Given the description of an element on the screen output the (x, y) to click on. 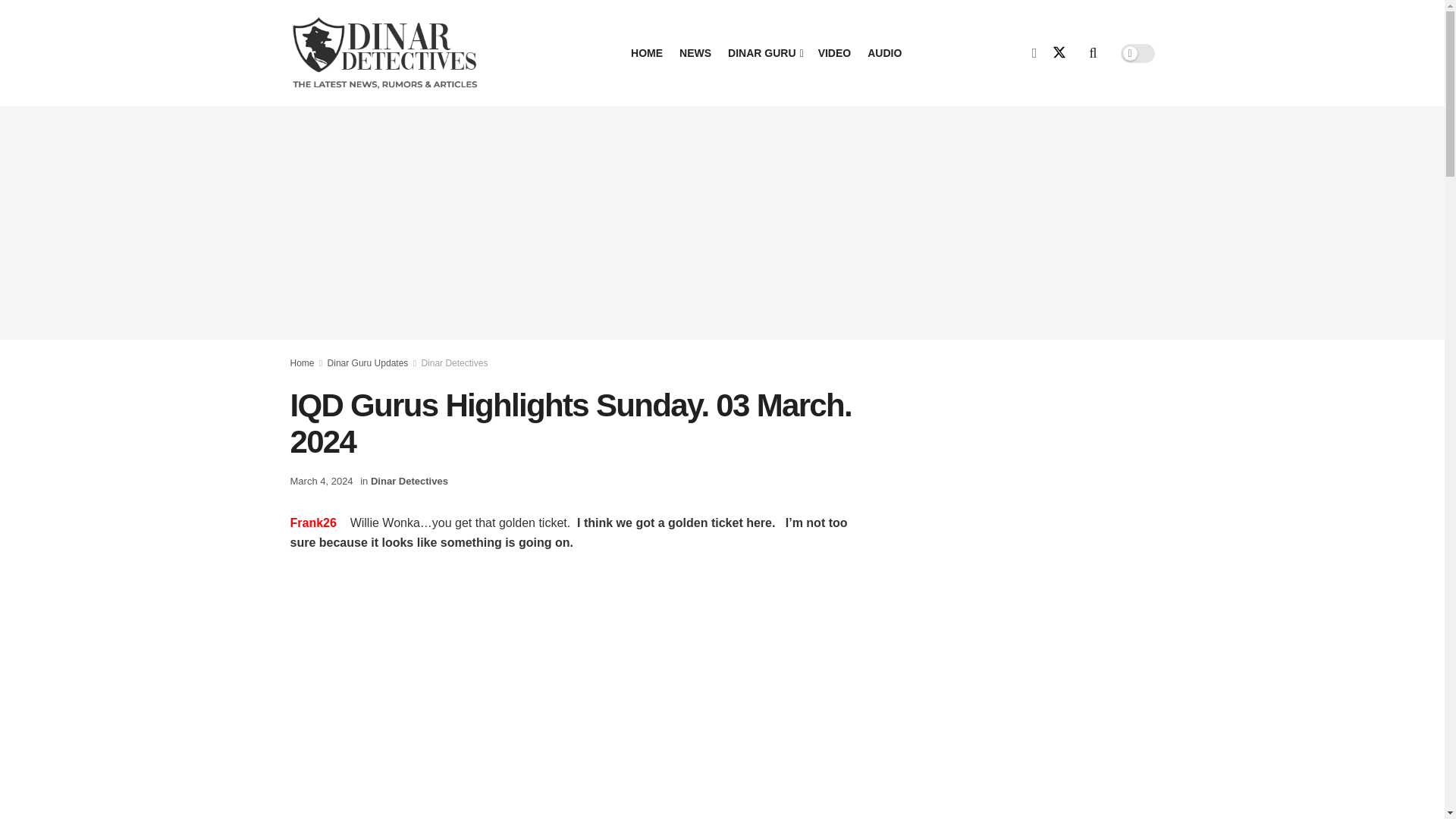
HOME (646, 52)
AUDIO (884, 52)
VIDEO (834, 52)
DINAR GURU (765, 52)
NEWS (695, 52)
